Given the description of an element on the screen output the (x, y) to click on. 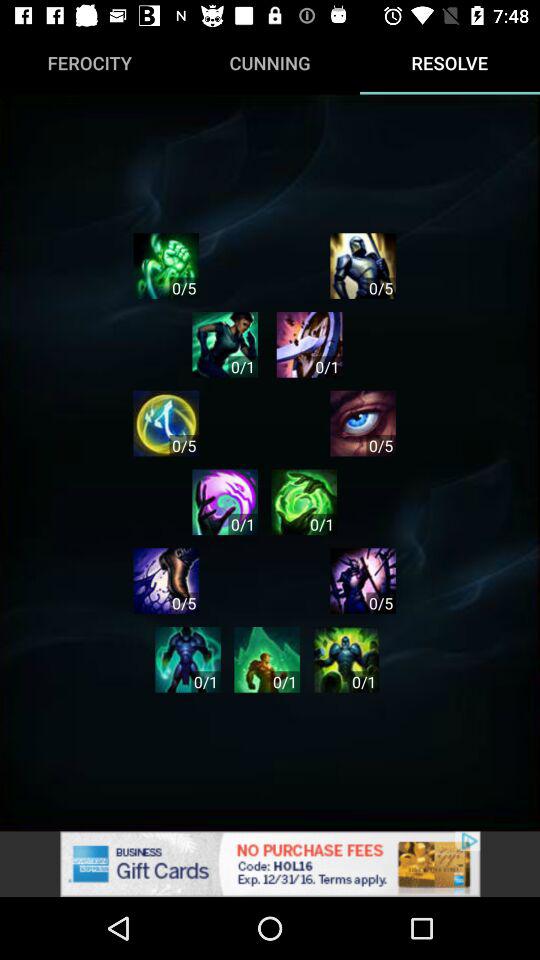
select image (346, 659)
